Given the description of an element on the screen output the (x, y) to click on. 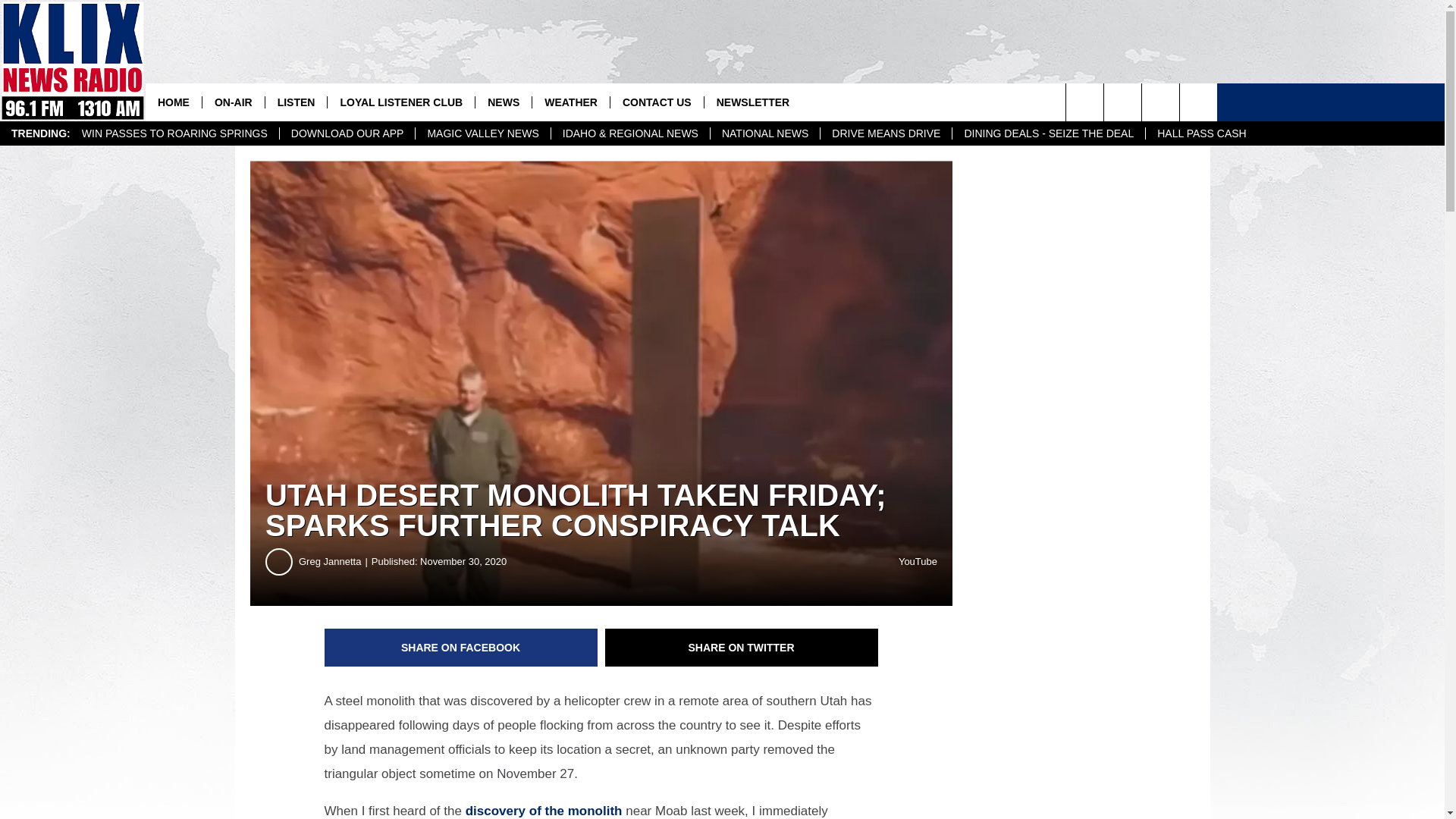
DINING DEALS - SEIZE THE DEAL (1048, 133)
Share on Twitter (741, 647)
WIN PASSES TO ROARING SPRINGS (174, 133)
Share on Facebook (460, 647)
ON-AIR (233, 102)
DRIVE MEANS DRIVE (885, 133)
NEWS (502, 102)
NATIONAL NEWS (764, 133)
HOME (173, 102)
MAGIC VALLEY NEWS (482, 133)
DOWNLOAD OUR APP (346, 133)
LISTEN (295, 102)
HALL PASS CASH (1200, 133)
LOYAL LISTENER CLUB (400, 102)
